Given the description of an element on the screen output the (x, y) to click on. 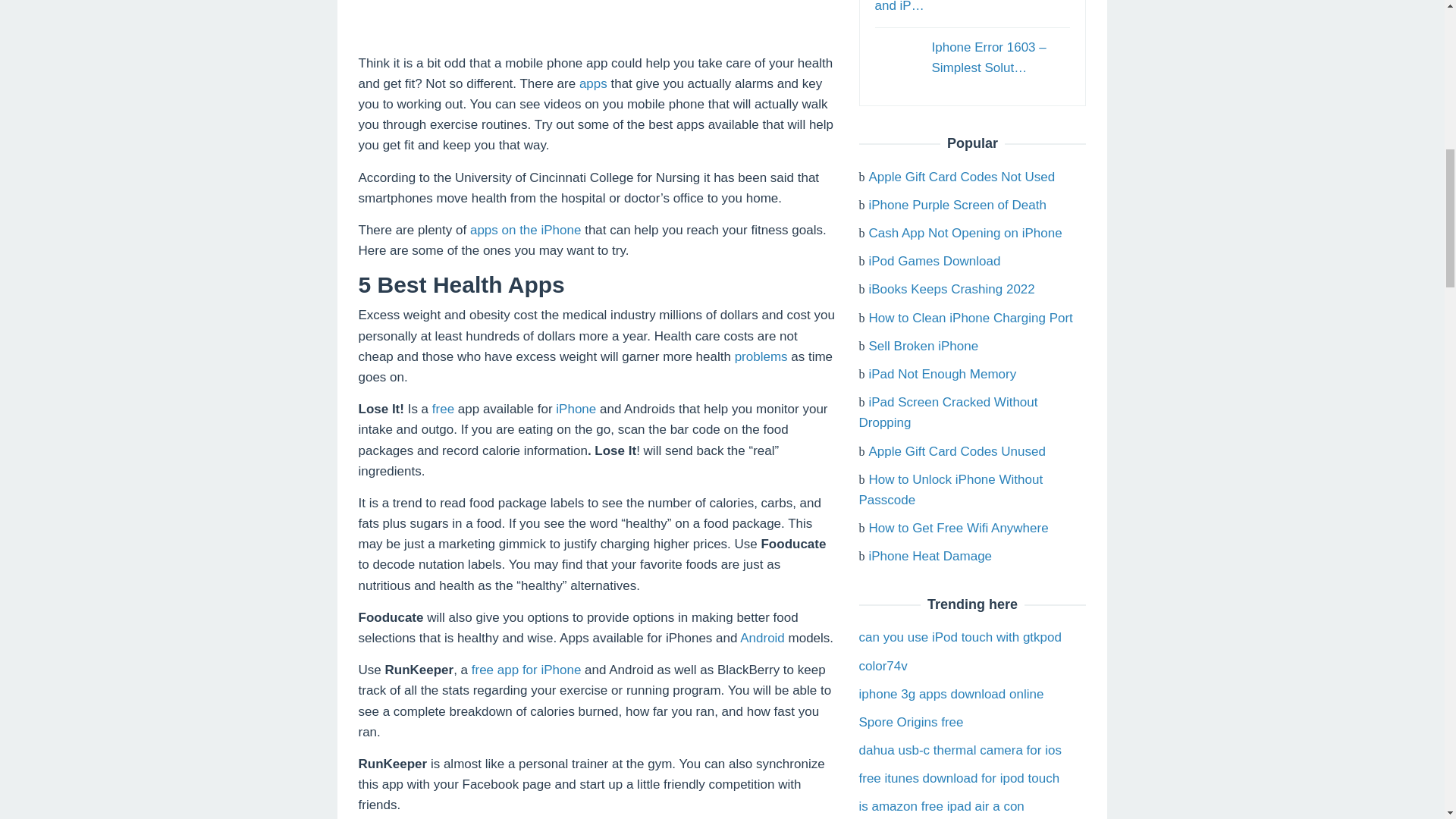
free (443, 409)
iphone error 1603 (897, 59)
can you use iPod touch with gtkpod (960, 636)
Permalink to: How to Uninstall Apps on the iPad and iPhone (971, 6)
apps (593, 83)
free app for iPhone (525, 669)
apps on the iPhone (525, 229)
iPhone (575, 409)
Android (761, 637)
problems (761, 356)
